Given the description of an element on the screen output the (x, y) to click on. 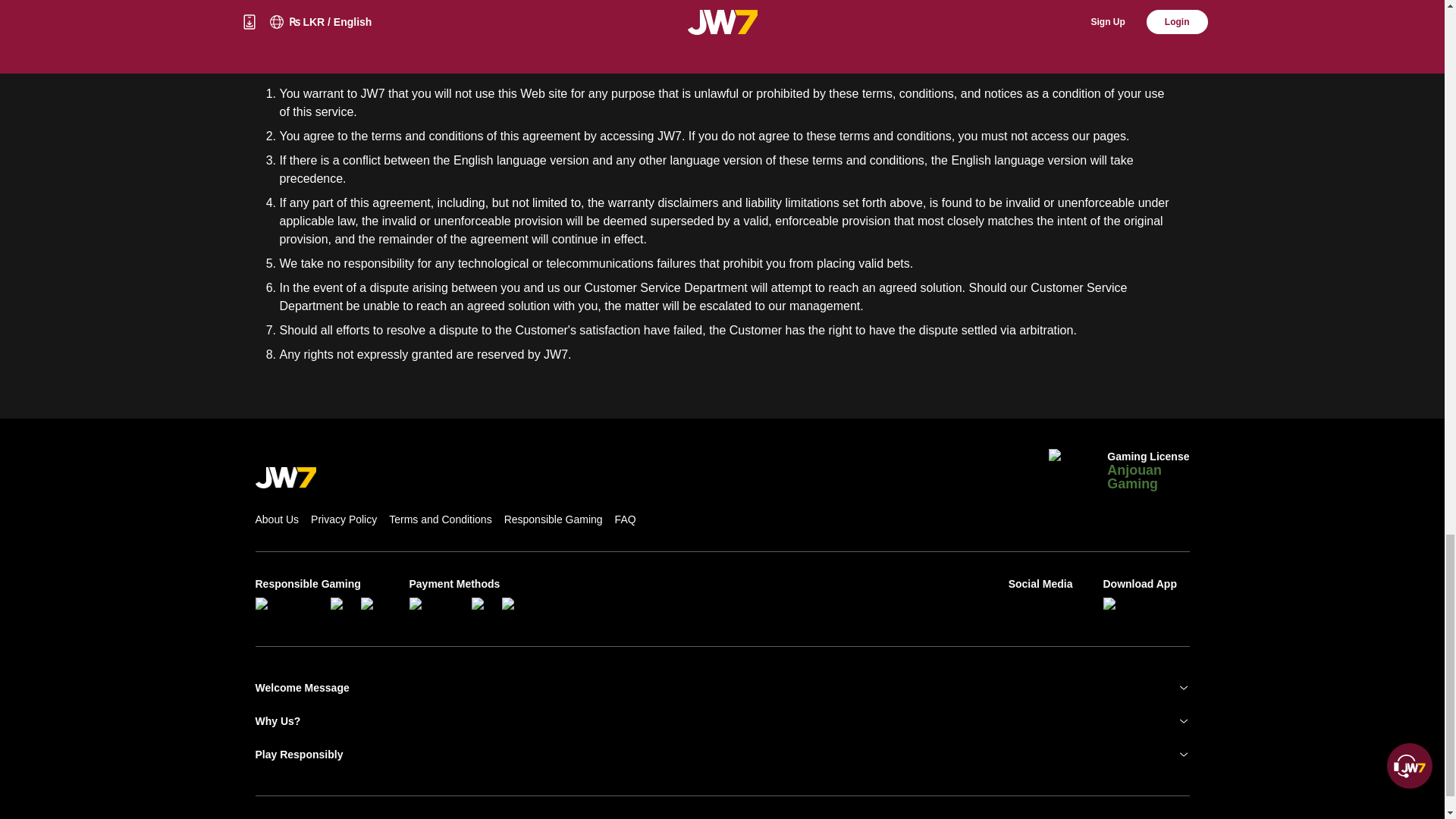
FAQ (625, 519)
Terms and Conditions (440, 519)
Privacy Policy (344, 519)
About Us (276, 519)
Responsible Gaming (552, 519)
